Given the description of an element on the screen output the (x, y) to click on. 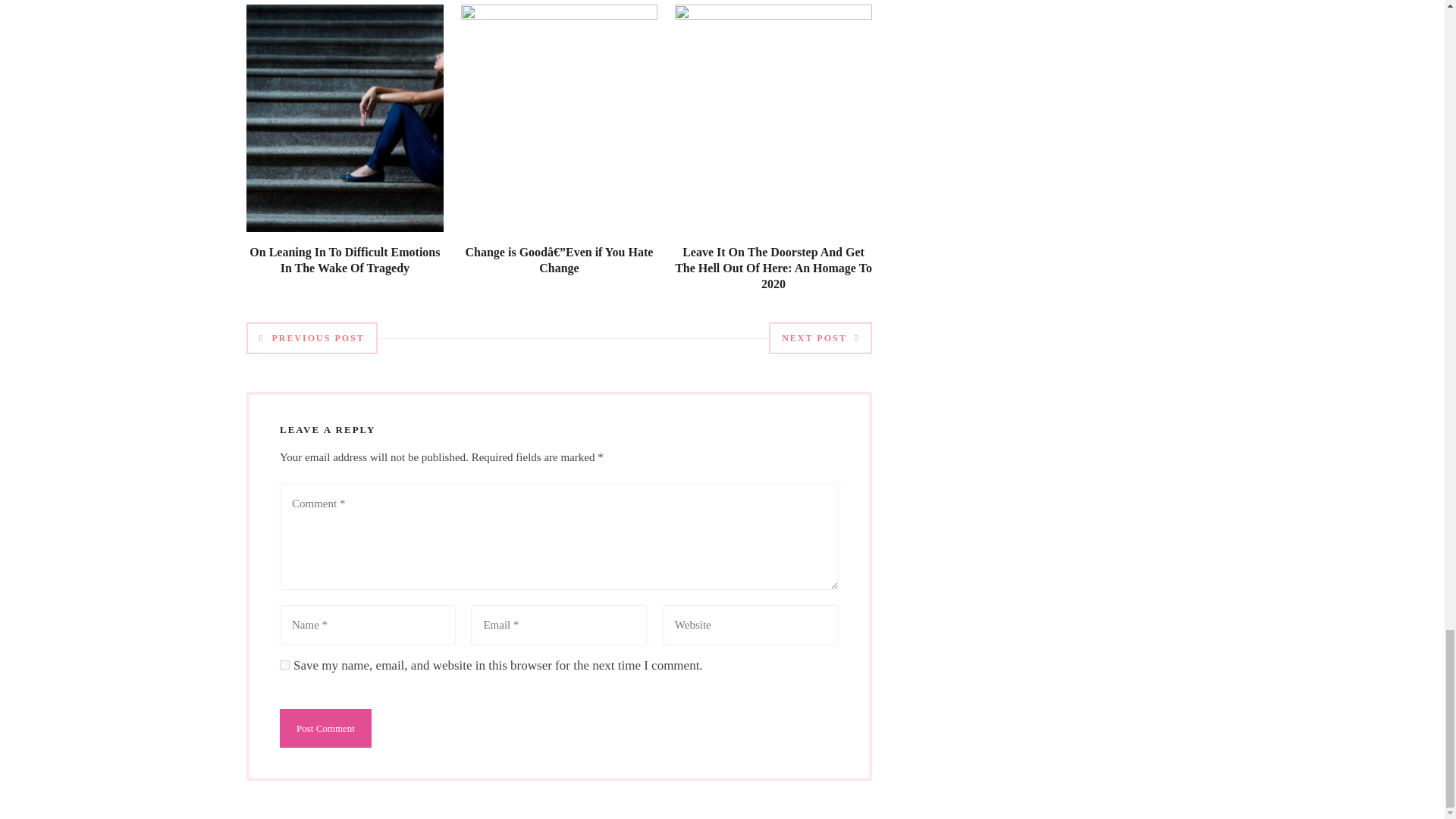
yes (284, 665)
Post Comment (325, 728)
5 Things to See and Do in Mesa and Phoenix, Arizona (557, 276)
